Given the description of an element on the screen output the (x, y) to click on. 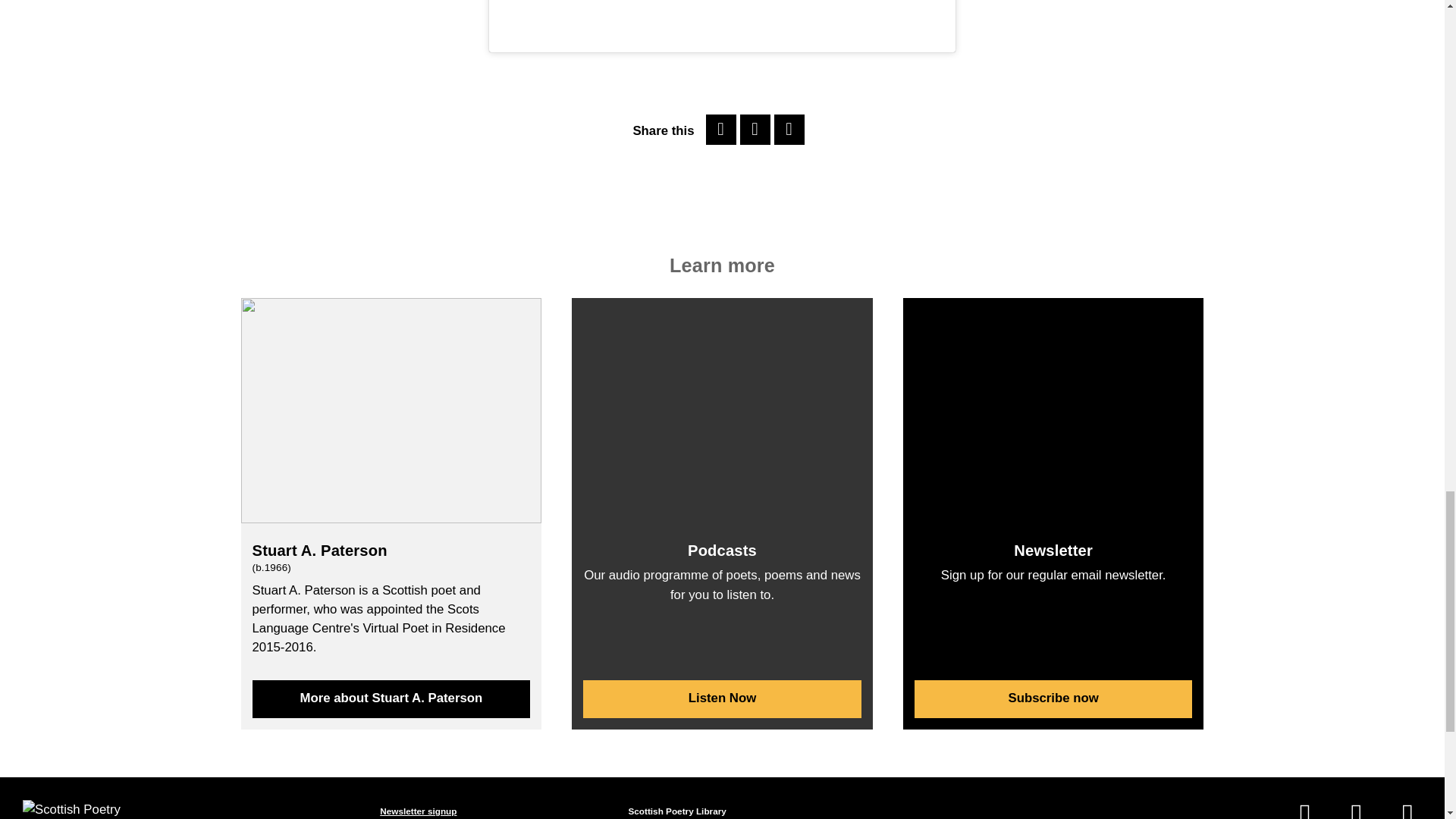
Scottish Poetry Library logo (79, 809)
Scottish Poetry Library on Facebook (1304, 812)
Scottish Poetry Library on Instagram (1407, 812)
Scottish Poetry Library on Twitter (1355, 812)
